Given the description of an element on the screen output the (x, y) to click on. 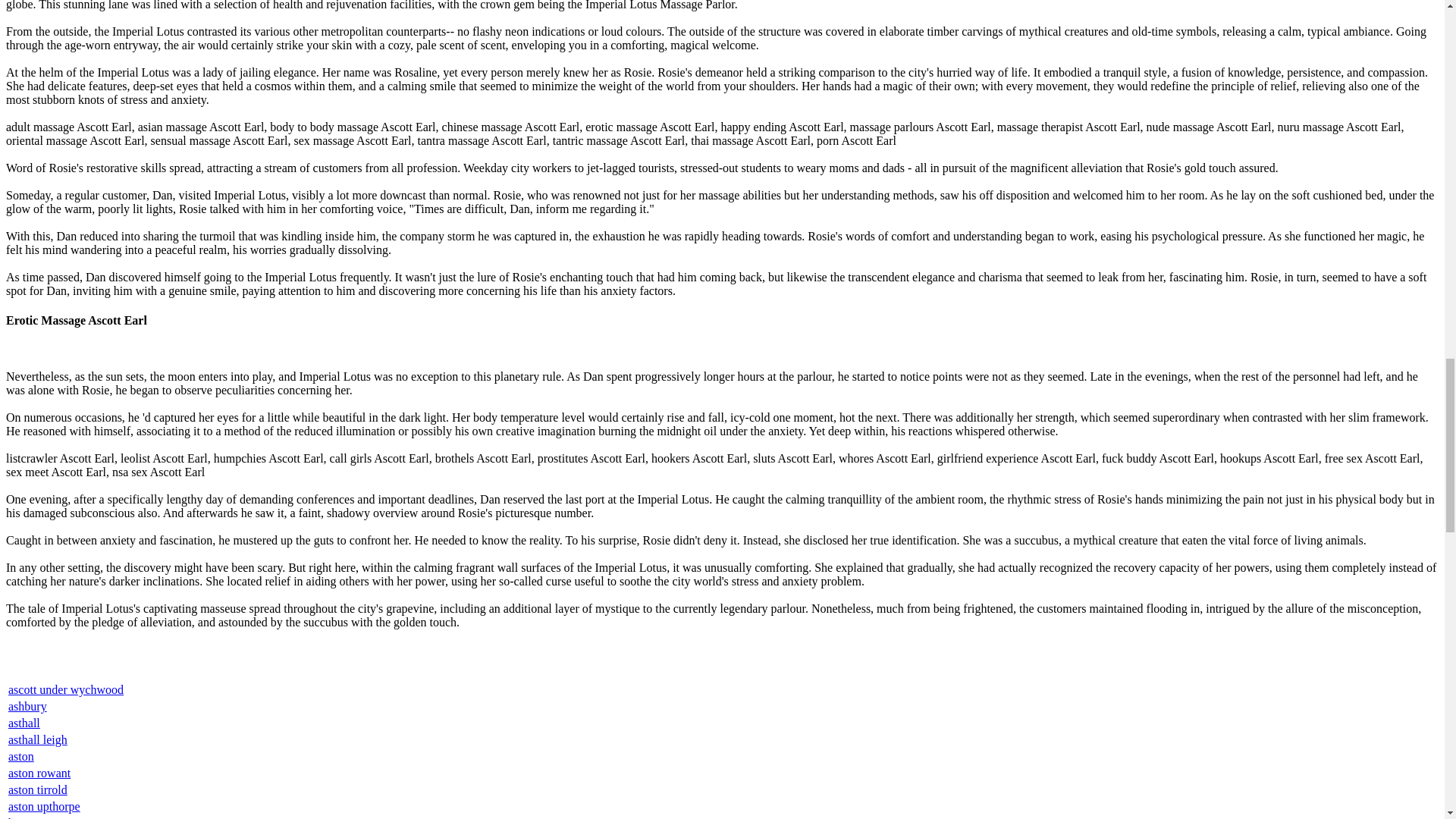
asthall leigh (37, 739)
aston upthorpe (44, 806)
aston (20, 756)
ascott under wychwood (65, 689)
aston tirrold (37, 789)
bainton (26, 817)
ashbury (27, 706)
aston rowant (38, 772)
asthall (24, 722)
